Given the description of an element on the screen output the (x, y) to click on. 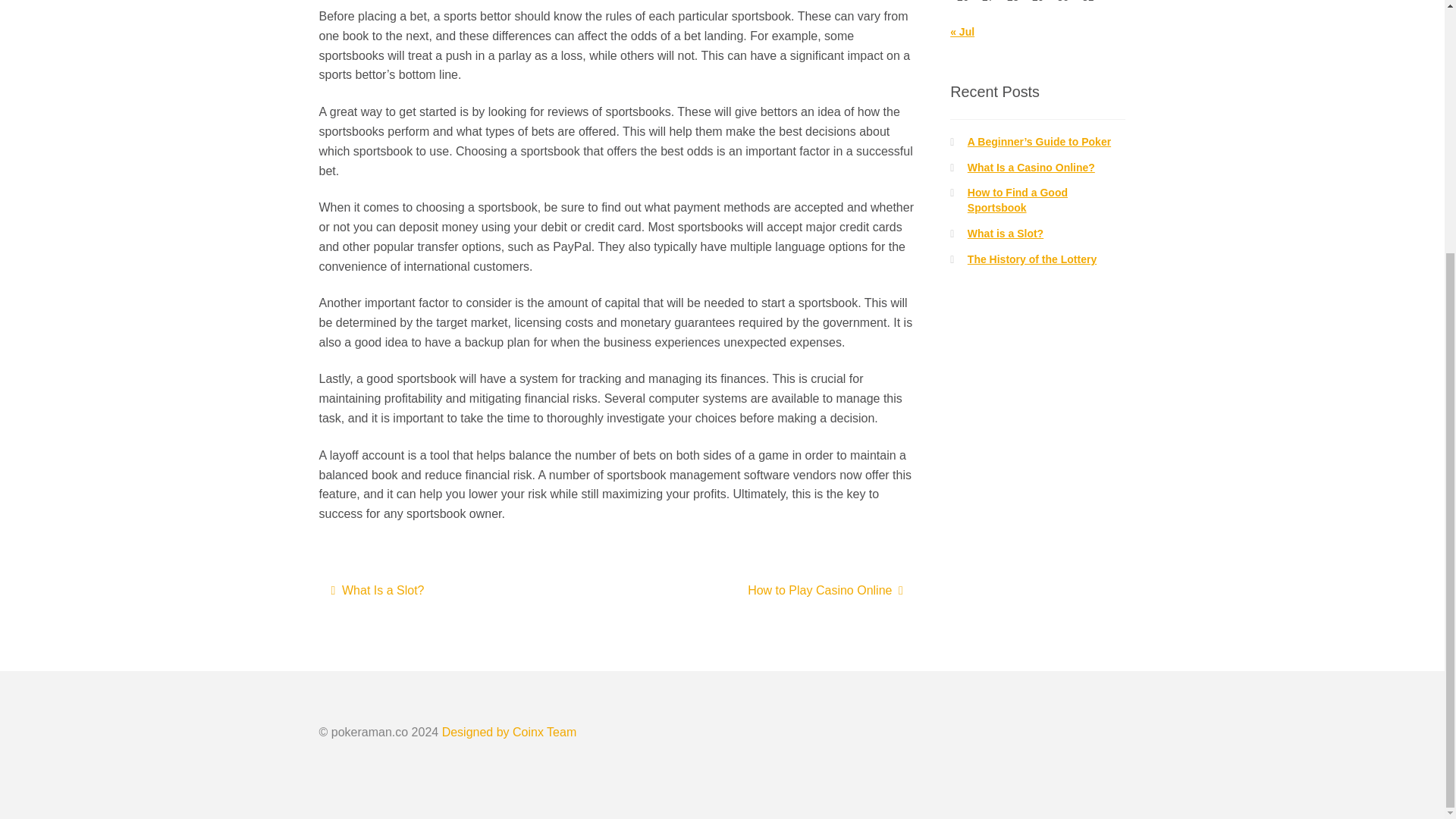
Designed by Coinx Team (509, 731)
What Is a Slot? (377, 590)
How to Find a Good Sportsbook (1017, 199)
Free Cryptocurrency News (509, 731)
The History of the Lottery (1032, 259)
What is a Slot? (1005, 233)
How to Play Casino Online (825, 590)
What Is a Casino Online? (1031, 167)
